Given the description of an element on the screen output the (x, y) to click on. 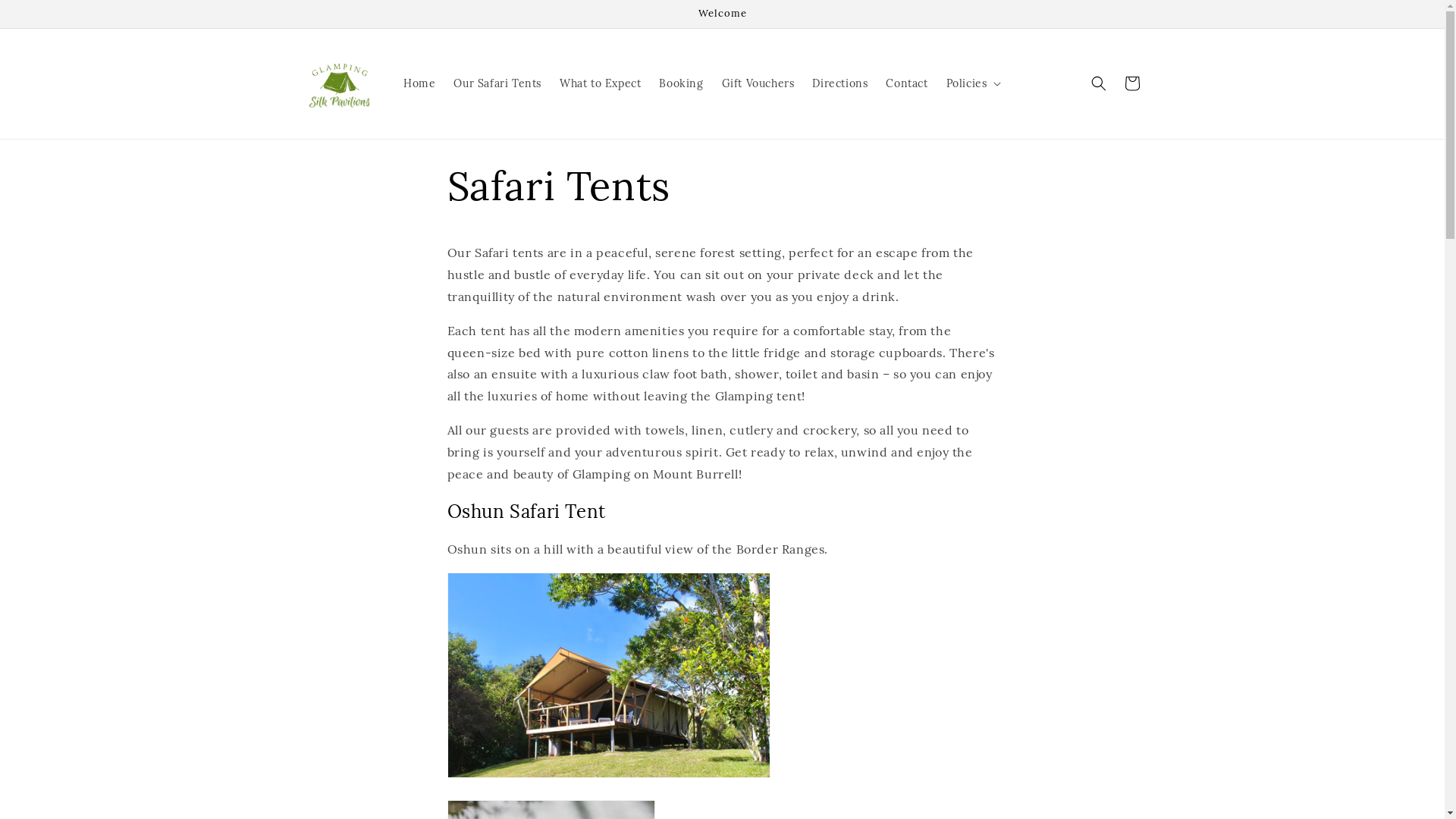
Cart Element type: text (1131, 83)
Booking Element type: text (680, 83)
What to Expect Element type: text (599, 83)
Gift Vouchers Element type: text (757, 83)
Our Safari Tents Element type: text (497, 83)
Contact Element type: text (906, 83)
Home Element type: text (419, 83)
Directions Element type: text (839, 83)
